Given the description of an element on the screen output the (x, y) to click on. 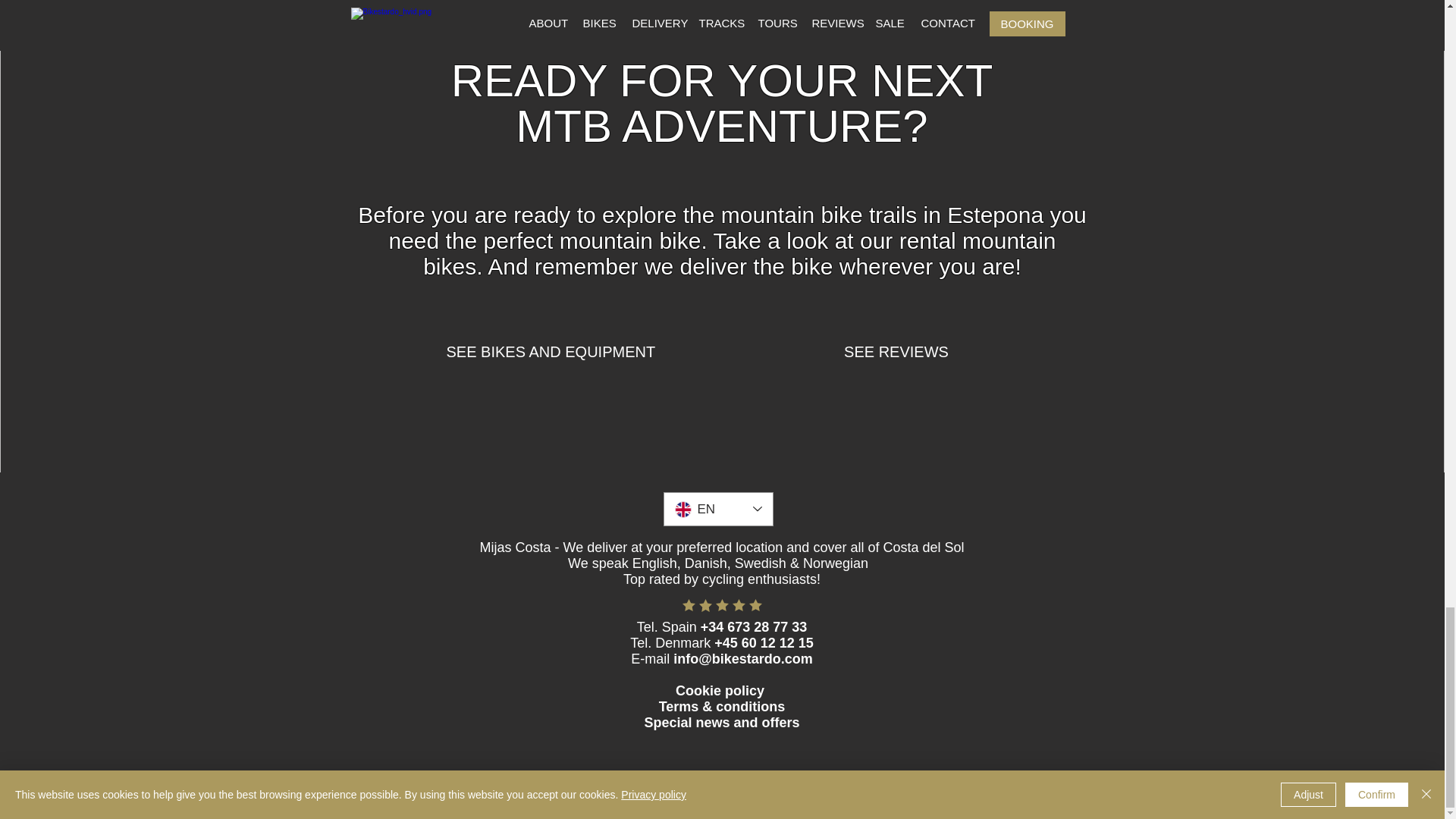
SEE BIKES AND EQUIPMENT (550, 351)
SEE REVIEWS (895, 351)
Cookie policy  (721, 690)
Special news and offers (721, 722)
